Given the description of an element on the screen output the (x, y) to click on. 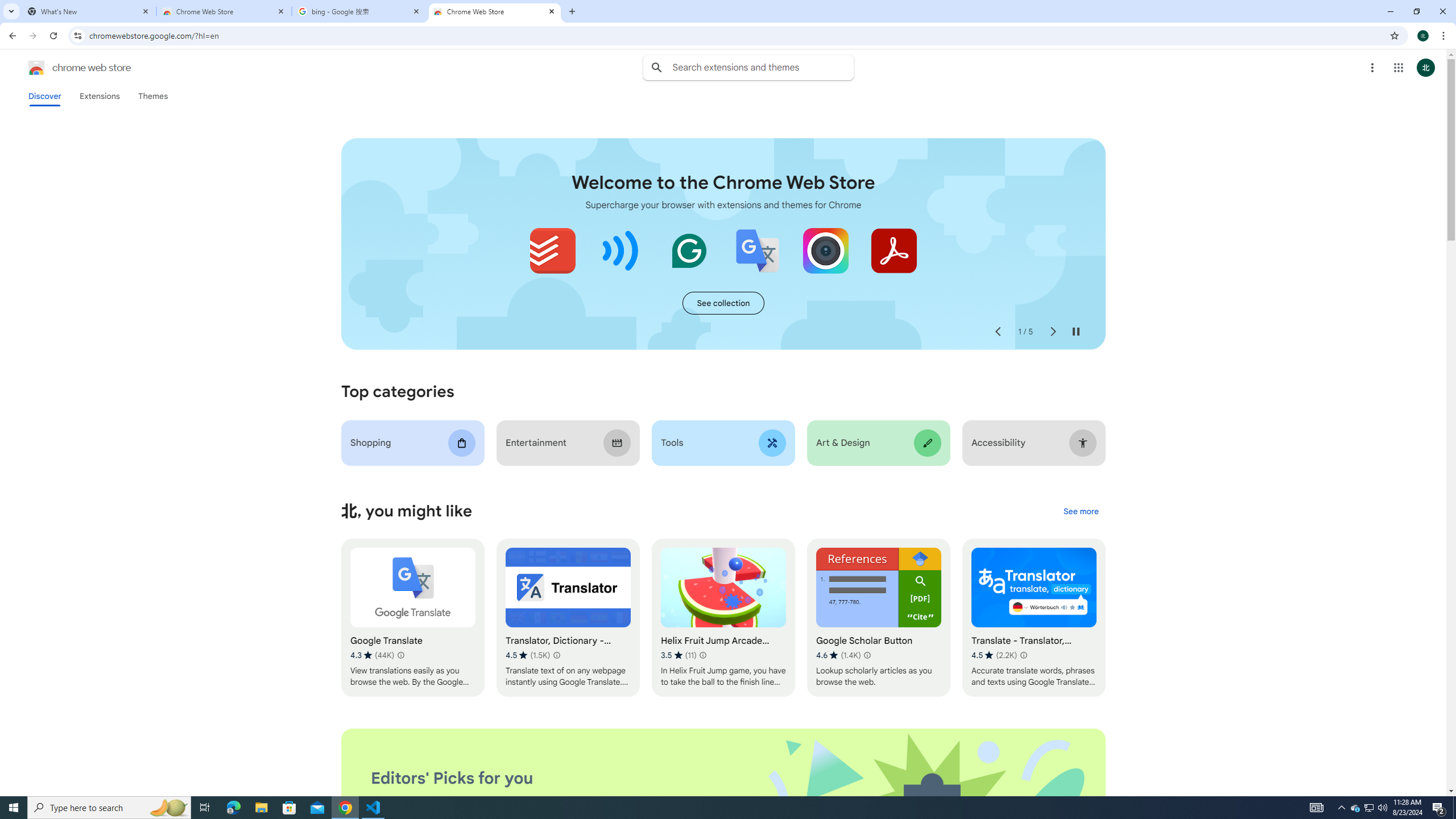
Helix Fruit Jump Arcade Game (722, 617)
Entertainment (567, 443)
Discover (43, 95)
Search input (762, 67)
See more of the "Extensions starter kit" collection (722, 303)
Next slide (1052, 331)
Volume Master (620, 250)
Translate - Translator, Dictionary, TTS (1033, 617)
Learn more about results and reviews "Google Scholar Button" (866, 655)
More options menu (1372, 67)
